Given the description of an element on the screen output the (x, y) to click on. 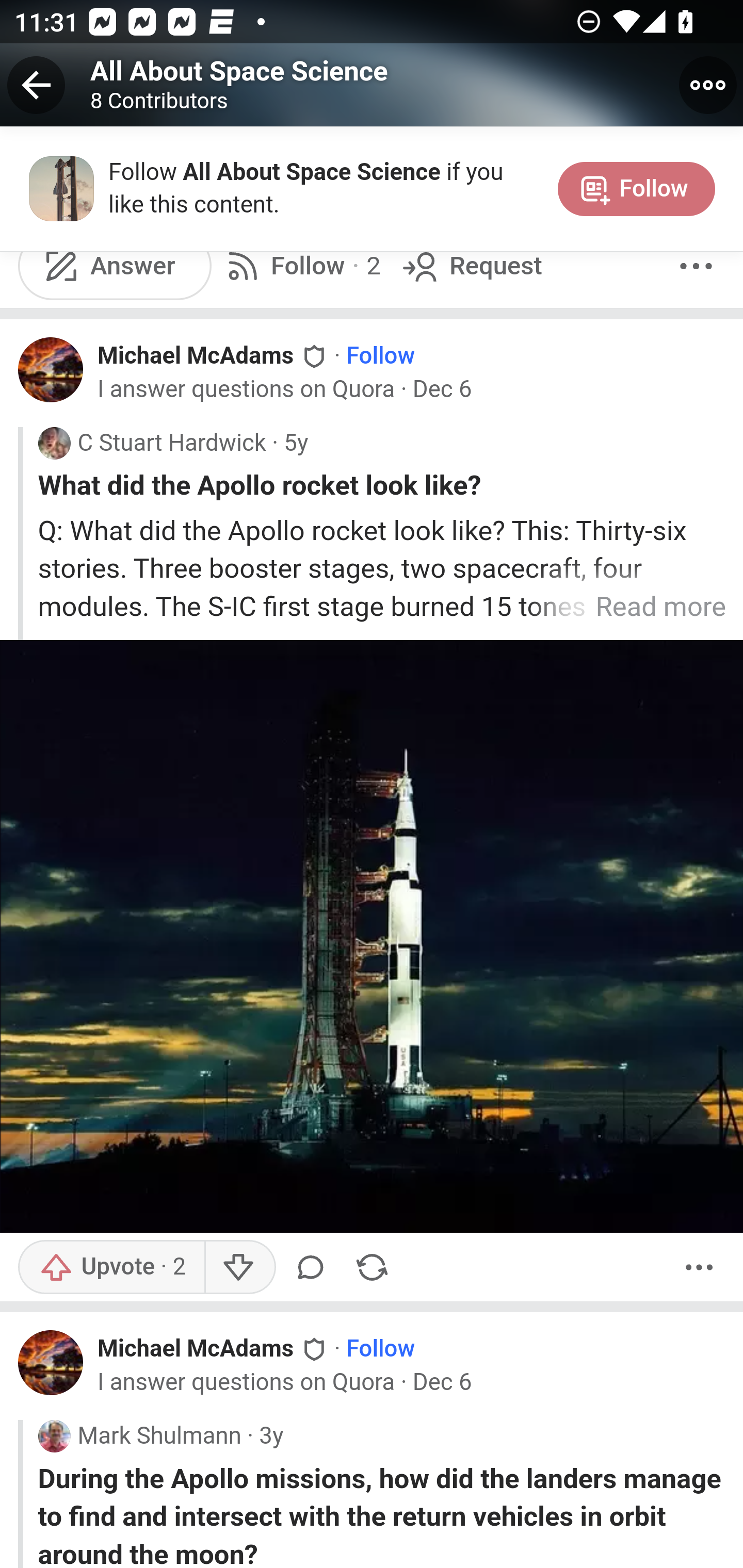
Answer (115, 265)
Follow · 2 (300, 265)
Request (469, 265)
More (696, 265)
Profile photo for Michael McAdams (50, 370)
Michael McAdams Michael McAdams   (213, 355)
Follow (380, 355)
Profile photo for C Stuart Hardwick (54, 442)
Upvote (111, 1268)
Downvote (238, 1268)
Comment (313, 1268)
Share (372, 1268)
More (699, 1268)
Profile photo for Michael McAdams (50, 1363)
Michael McAdams Michael McAdams   (213, 1347)
Follow (380, 1348)
Profile photo for Mark Shulmann (54, 1436)
